Given the description of an element on the screen output the (x, y) to click on. 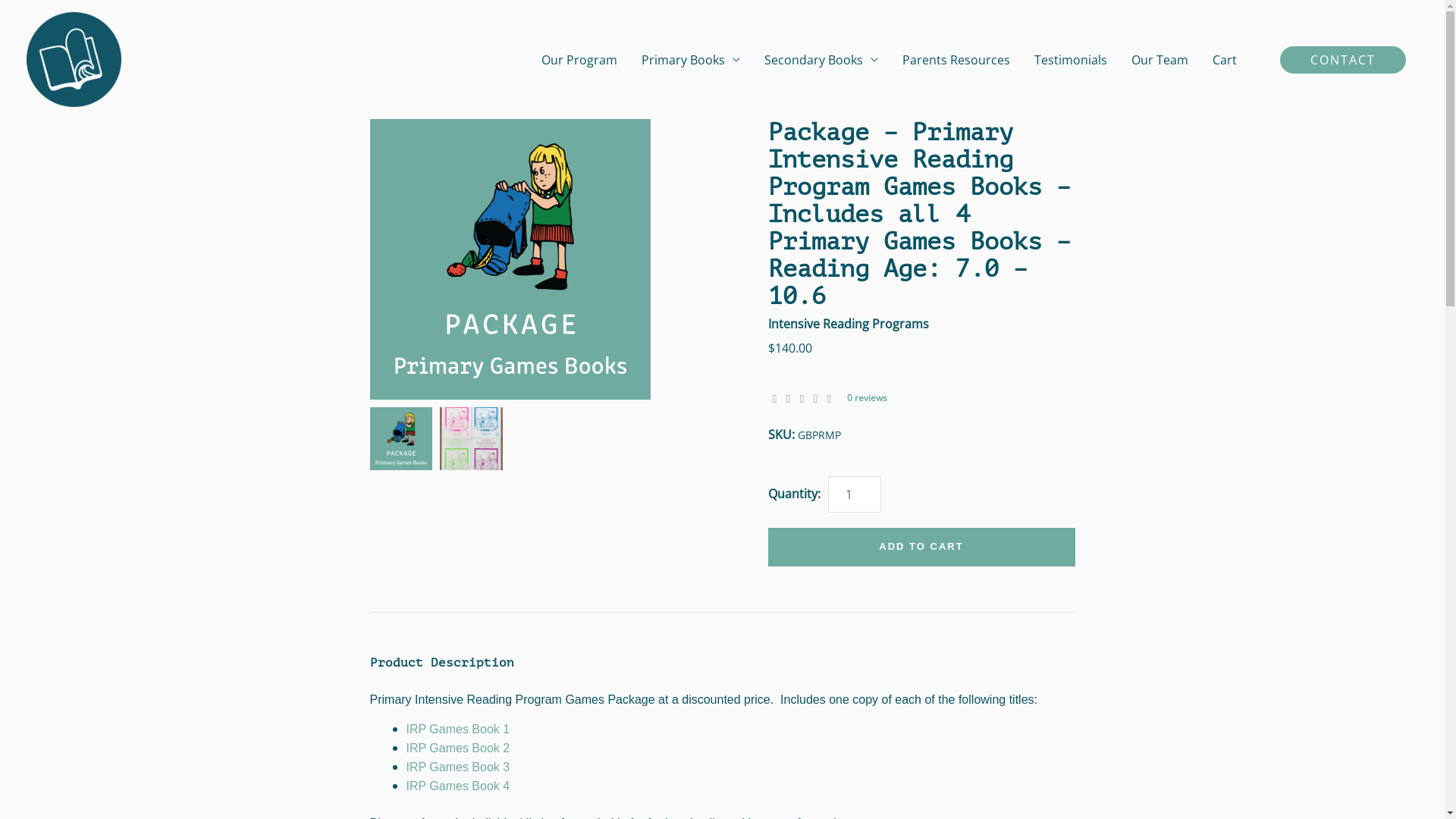
IRP Games Book 3 Element type: text (458, 766)
CONTACT Element type: text (1342, 58)
Primary Books Element type: text (690, 59)
IRP Games Book 2 Element type: text (458, 747)
IRP Games Book 4 Element type: text (458, 785)
ADD TO CART Element type: text (920, 546)
Our Program Element type: text (579, 59)
Our Team Element type: text (1159, 59)
0 reviews Element type: text (866, 397)
Parents Resources Element type: text (956, 59)
Cart Element type: text (1233, 59)
IRP Games Book 1 Element type: text (458, 728)
Testimonials Element type: text (1070, 59)
Secondary Books Element type: text (821, 59)
